Given the description of an element on the screen output the (x, y) to click on. 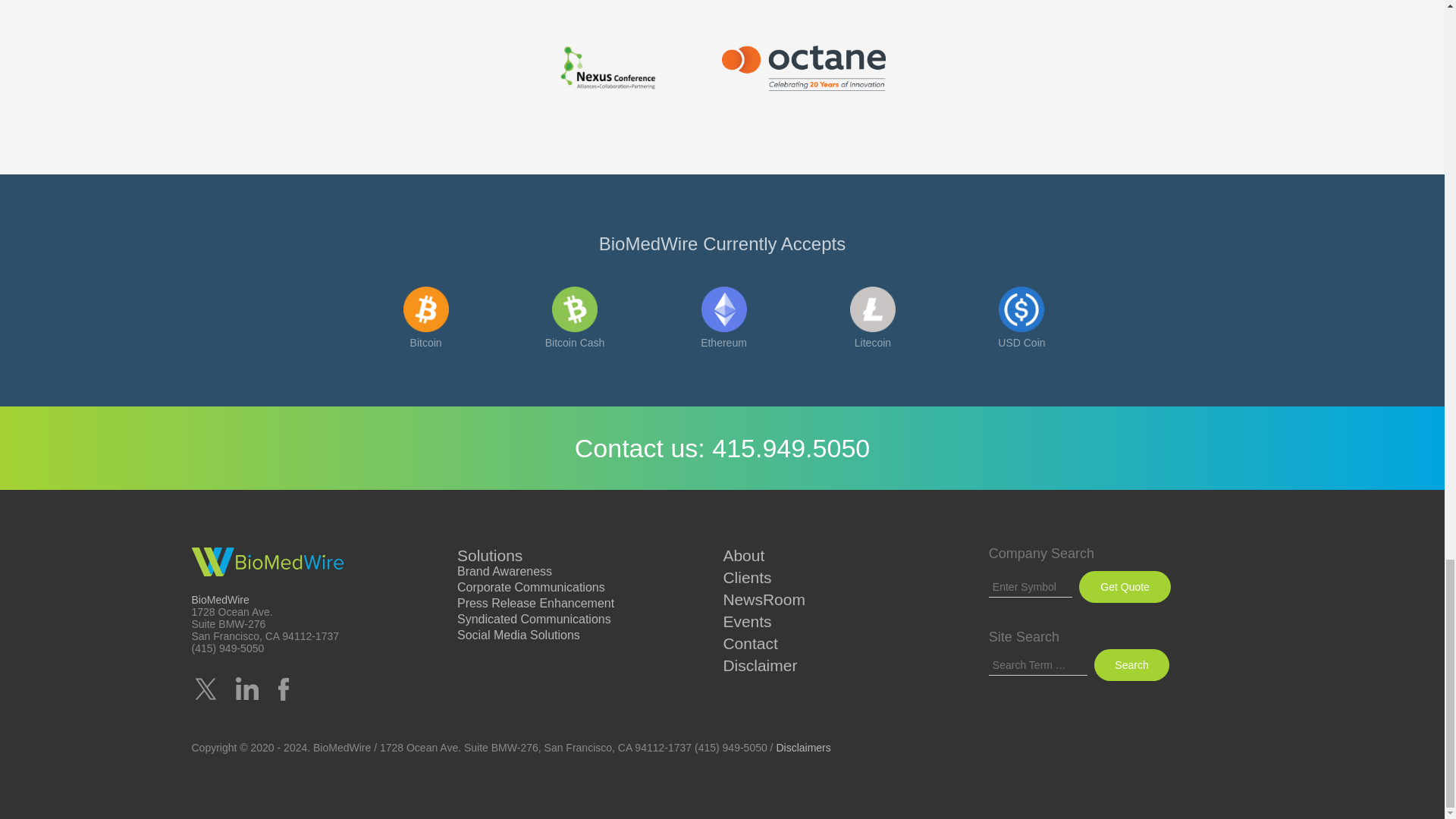
BioMedWire (266, 561)
